Given the description of an element on the screen output the (x, y) to click on. 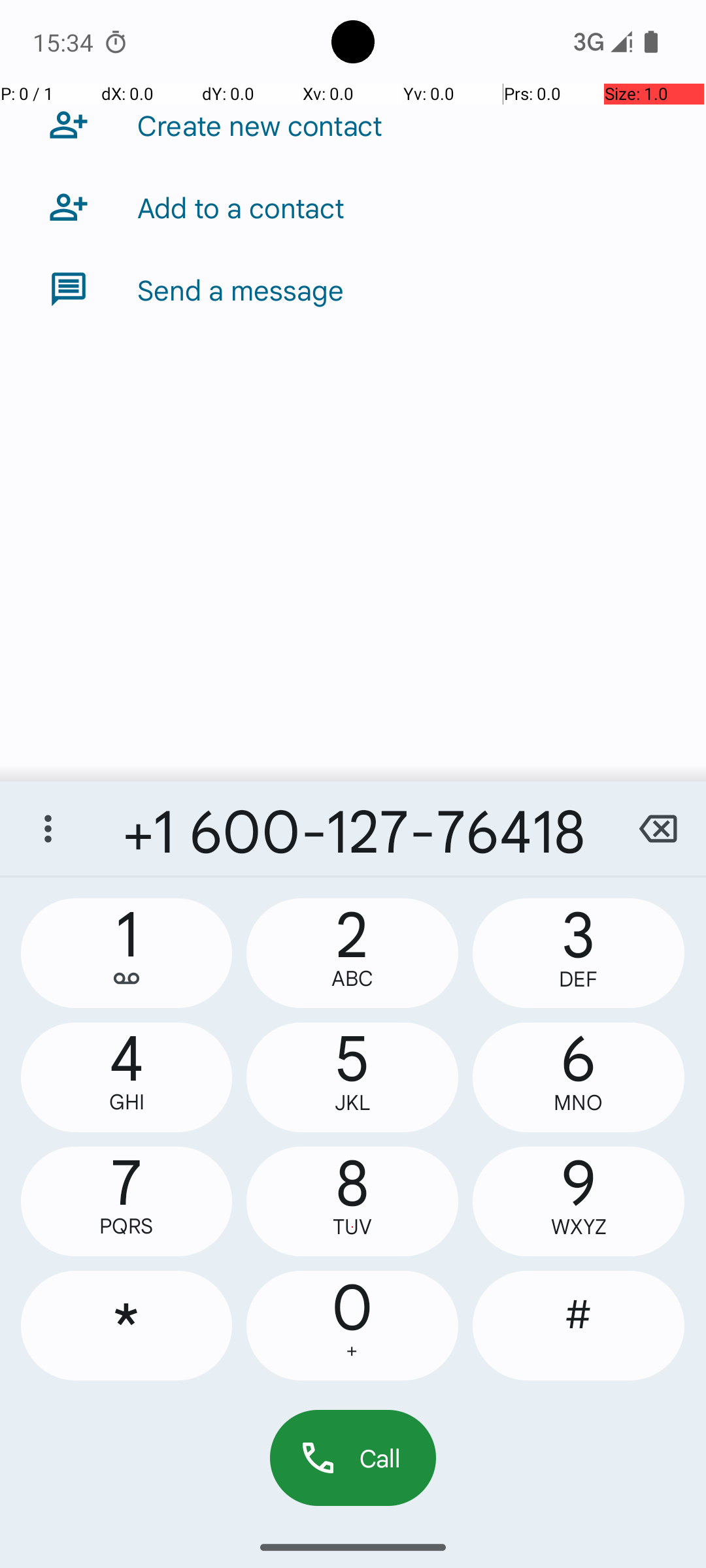
+1 600-127-76418 Element type: android.widget.EditText (352, 828)
